Given the description of an element on the screen output the (x, y) to click on. 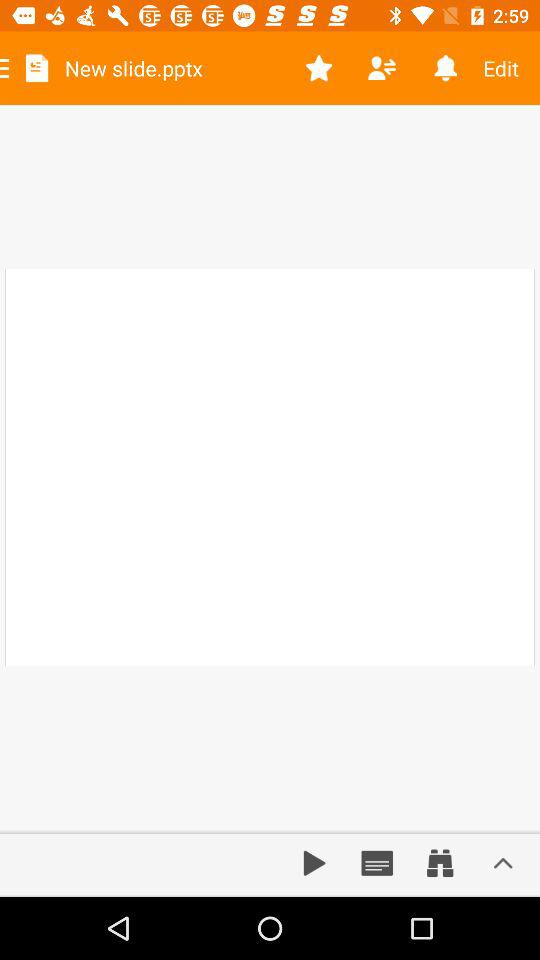
go to zooming (440, 863)
